Given the description of an element on the screen output the (x, y) to click on. 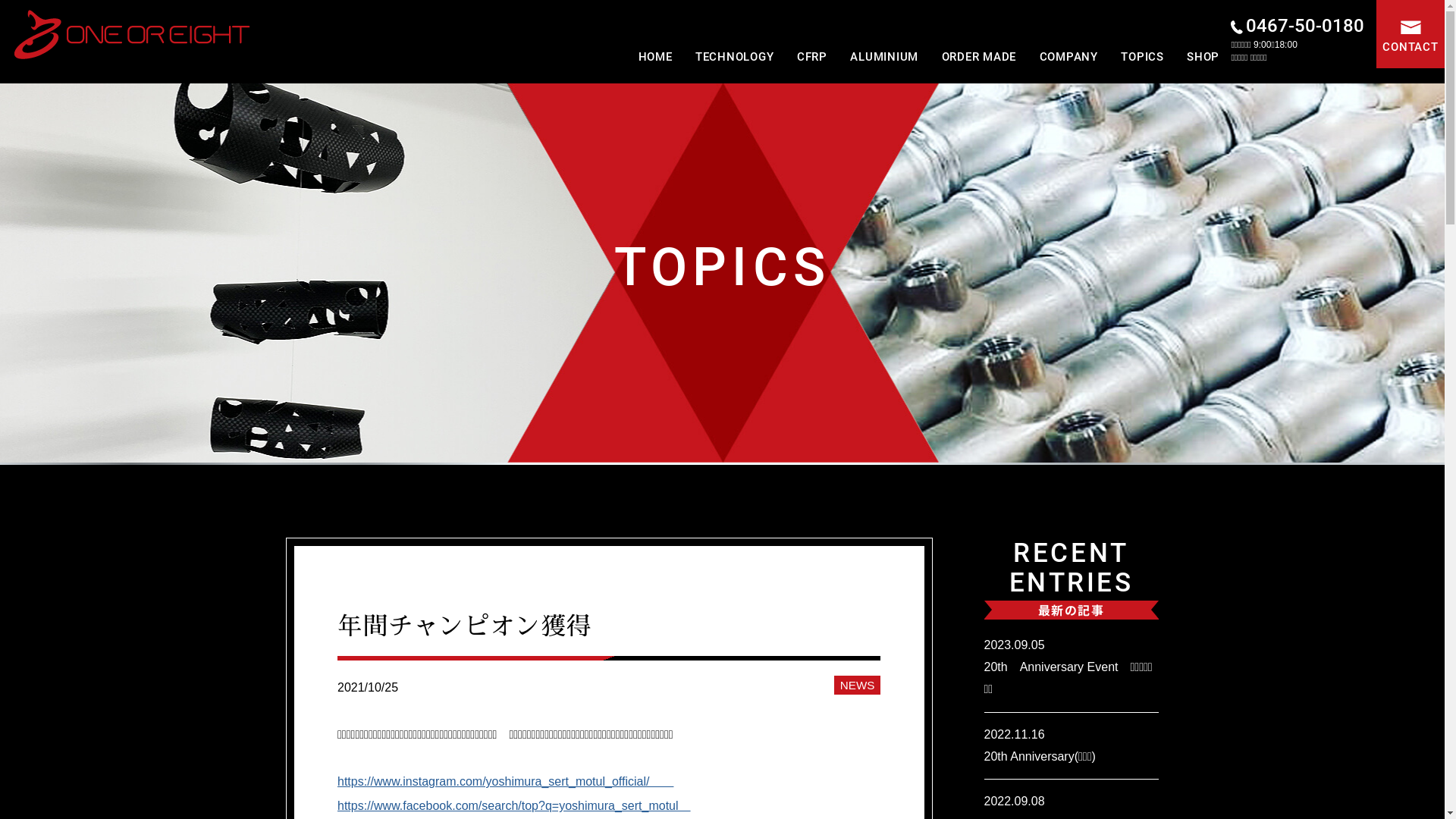
SHOP Element type: text (1202, 56)
ALUMINIUM Element type: text (884, 56)
HOME Element type: text (655, 56)
TOPICS Element type: text (1142, 56)
0467-50-0180 Element type: text (1297, 25)
https://www.facebook.com/search/top?q=yoshimura_sert_motul Element type: text (513, 805)
https://www.instagram.com/yoshimura_sert_motul_official/ Element type: text (505, 781)
TECHNOLOGY Element type: text (734, 56)
COMPANY Element type: text (1068, 56)
NEWS Element type: text (857, 684)
CFRP Element type: text (812, 56)
CONTACT Element type: text (1410, 34)
ORDER MADE Element type: text (978, 56)
